Given the description of an element on the screen output the (x, y) to click on. 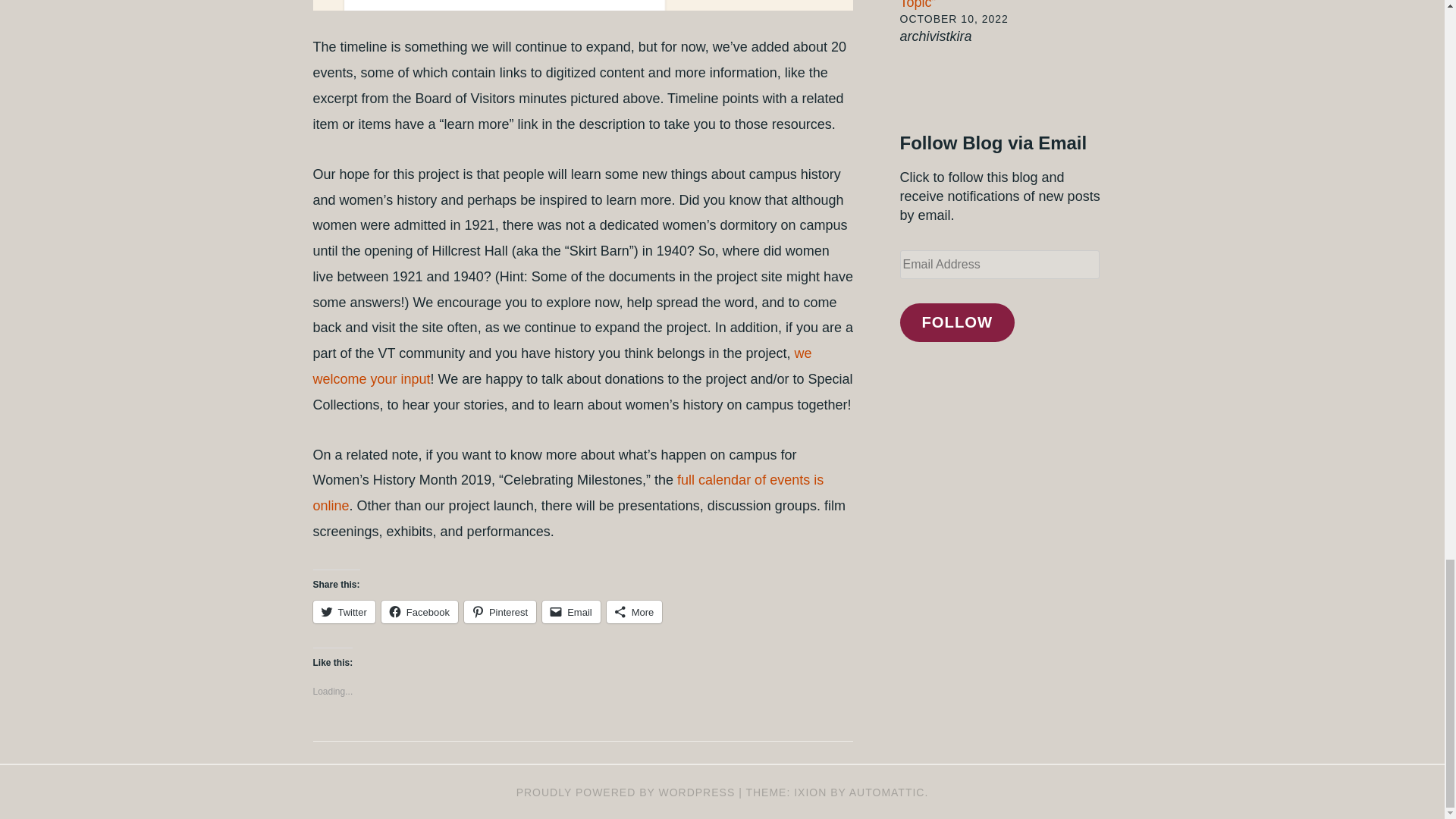
More (634, 611)
Click to share on Pinterest (499, 611)
Facebook (419, 611)
Email (570, 611)
Click to share on Twitter (343, 611)
Twitter (343, 611)
full calendar of events is online (568, 492)
we welcome your input (561, 365)
Click to email a link to a friend (570, 611)
Pinterest (499, 611)
Click to share on Facebook (419, 611)
